Given the description of an element on the screen output the (x, y) to click on. 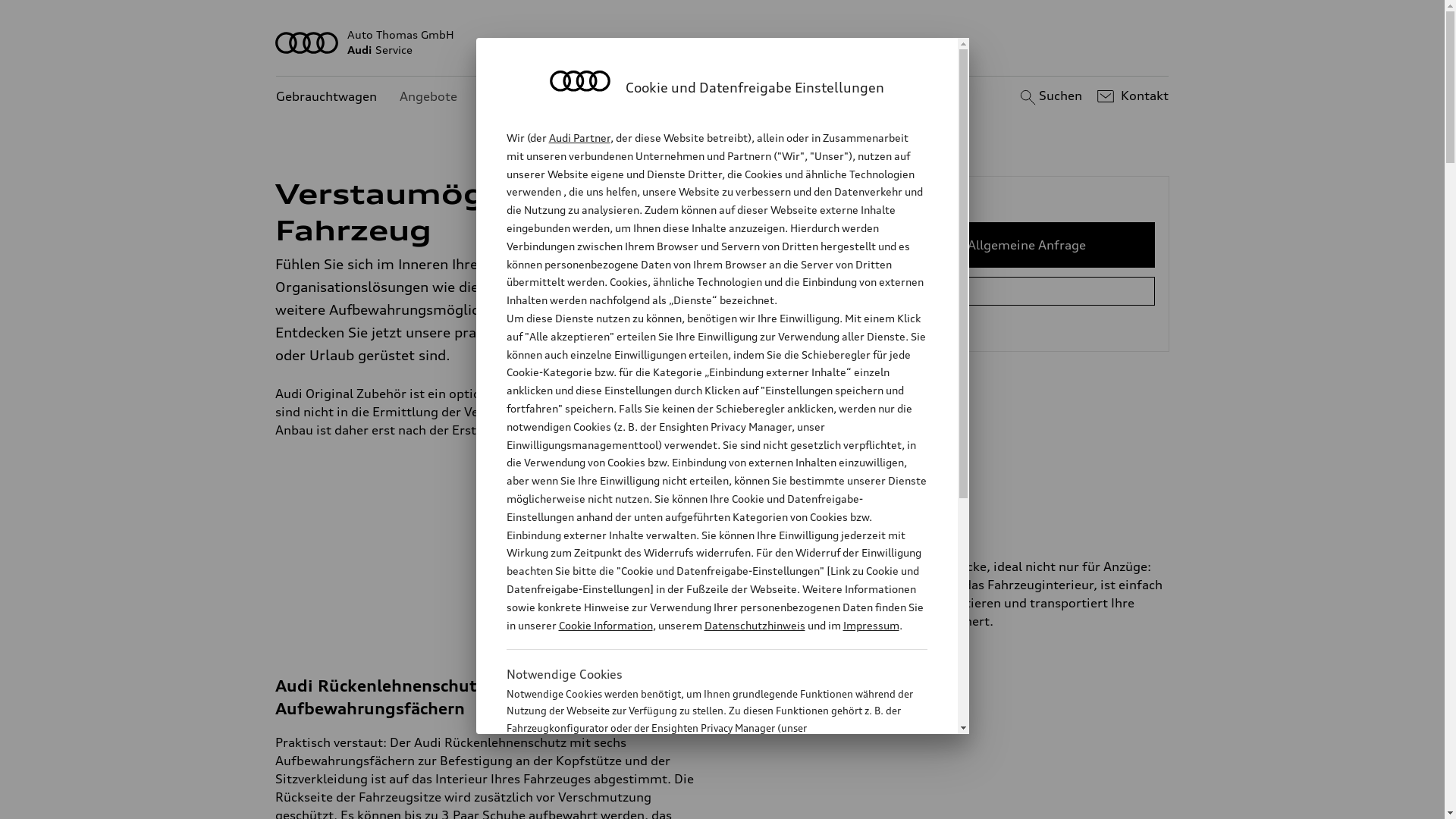
Cookie Information Element type: text (605, 624)
Allgemeine Anfrage Element type: text (1025, 244)
Angebote Element type: text (428, 96)
Kontakt Element type: text (1130, 96)
Audi Partner Element type: text (579, 137)
Datenschutzhinweis Element type: text (753, 624)
Preis auf Anfrage Element type: text (861, 646)
Impressum Element type: text (871, 624)
Suchen Element type: text (1049, 96)
Kundenservice Element type: text (523, 96)
Gebrauchtwagen Element type: text (326, 96)
Cookie Information Element type: text (700, 802)
Auto Thomas GmbH
AudiService Element type: text (722, 42)
